Given the description of an element on the screen output the (x, y) to click on. 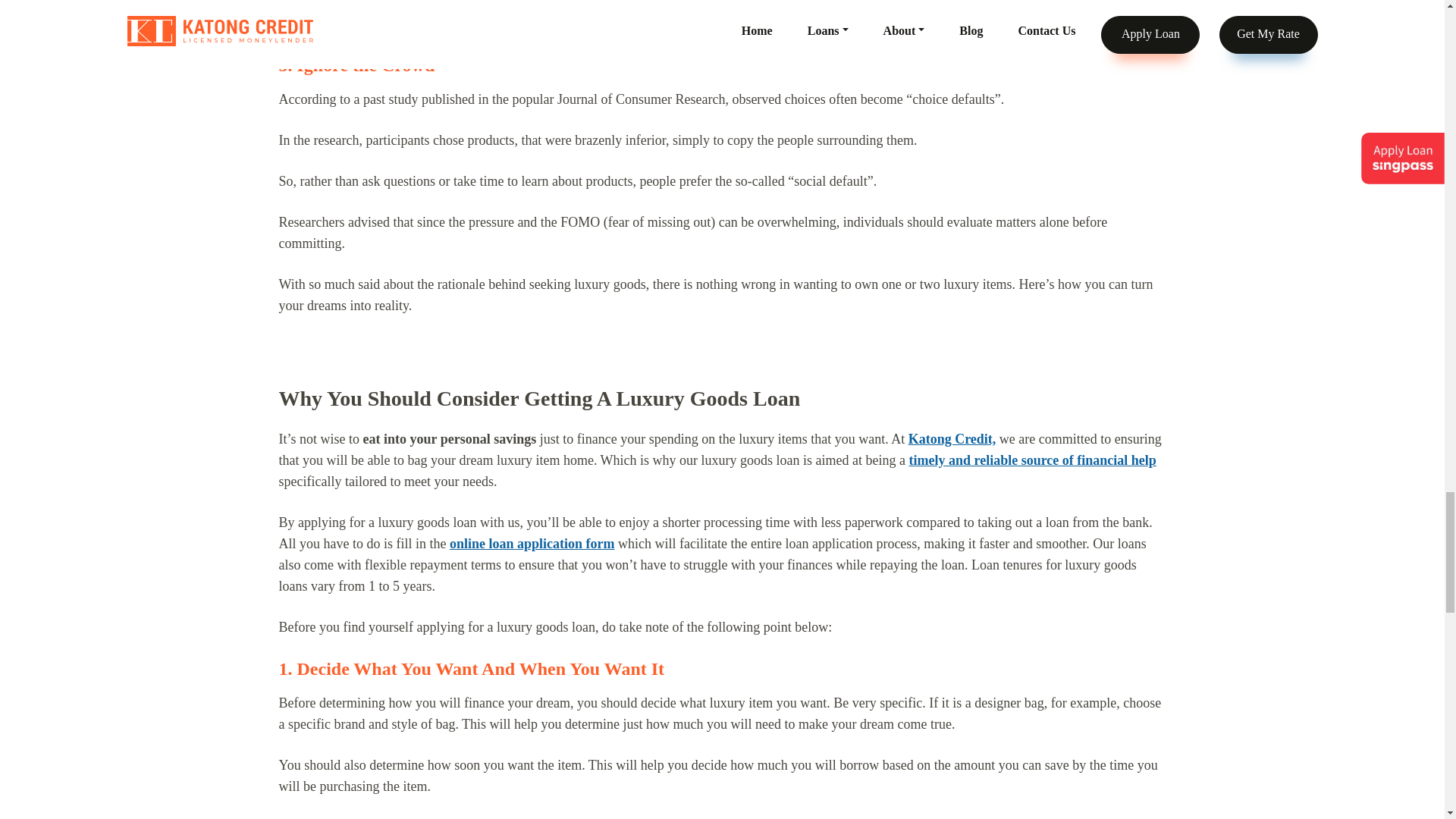
online loan application form (531, 543)
timely and reliable source of financial help (1032, 459)
Katong Credit, (951, 438)
